Given the description of an element on the screen output the (x, y) to click on. 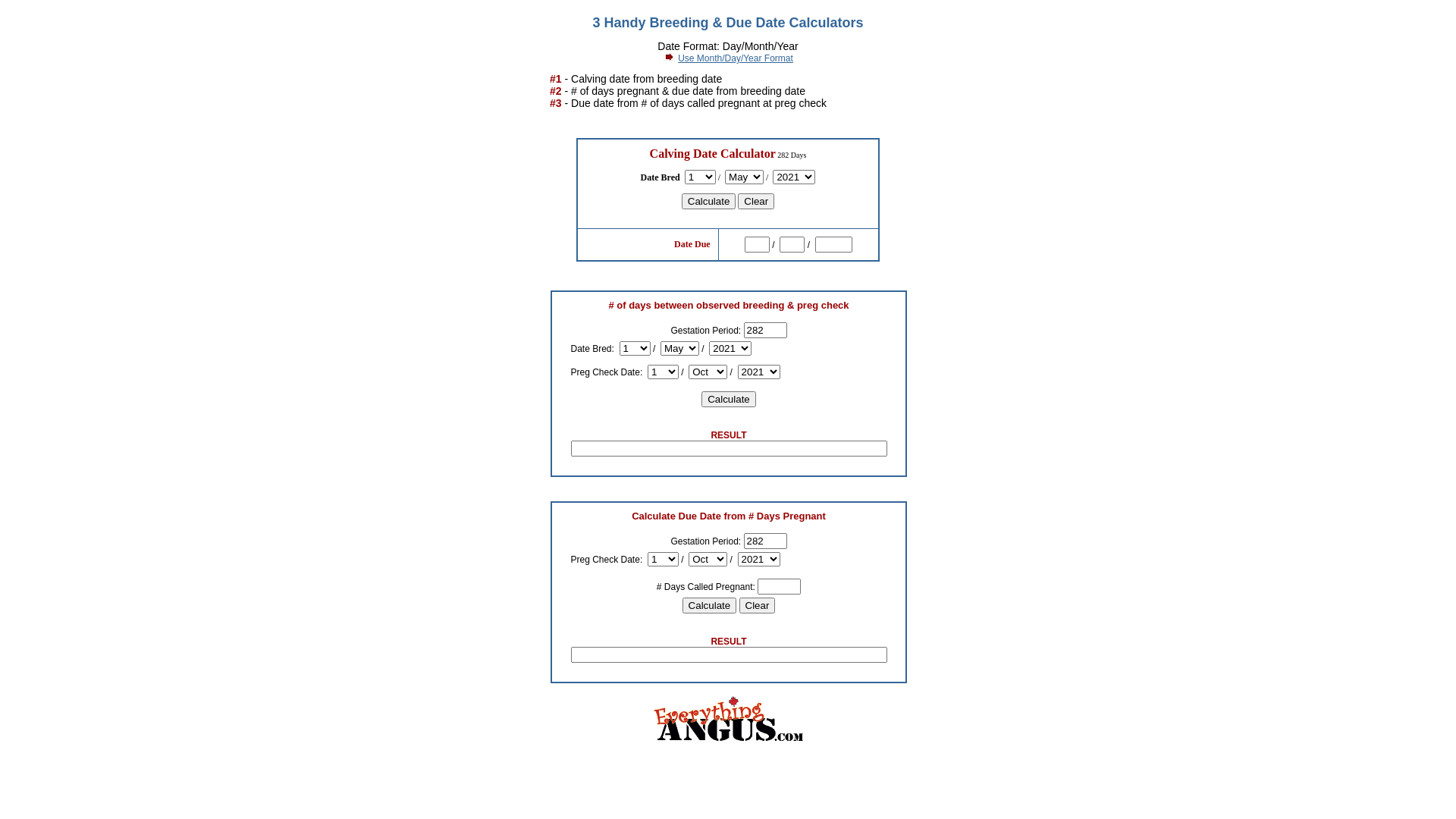
Calculate Element type: text (708, 201)
Calculate Element type: text (728, 399)
Calculate Element type: text (709, 605)
Use Month/Day/Year Format Element type: text (735, 58)
